Given the description of an element on the screen output the (x, y) to click on. 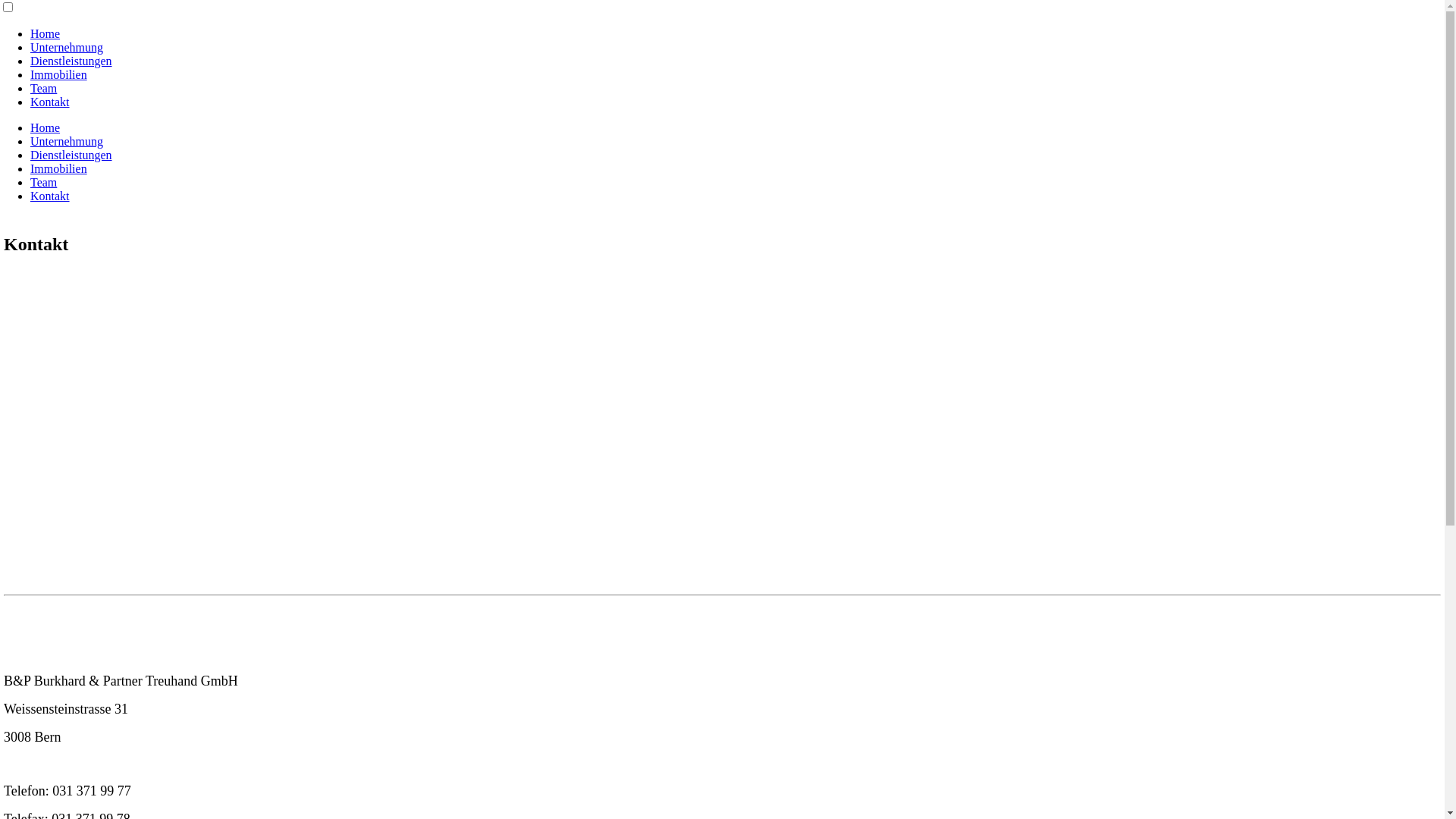
Kontakt Element type: text (49, 195)
Immobilien Element type: text (58, 74)
Kontakt Element type: text (49, 101)
Immobilien Element type: text (58, 168)
Dienstleistungen Element type: text (71, 154)
Team Element type: text (43, 87)
Home Element type: text (44, 33)
Dienstleistungen Element type: text (71, 60)
Unternehmung Element type: text (66, 46)
Team Element type: text (43, 181)
Unternehmung Element type: text (66, 140)
Home Element type: text (44, 127)
